Given the description of an element on the screen output the (x, y) to click on. 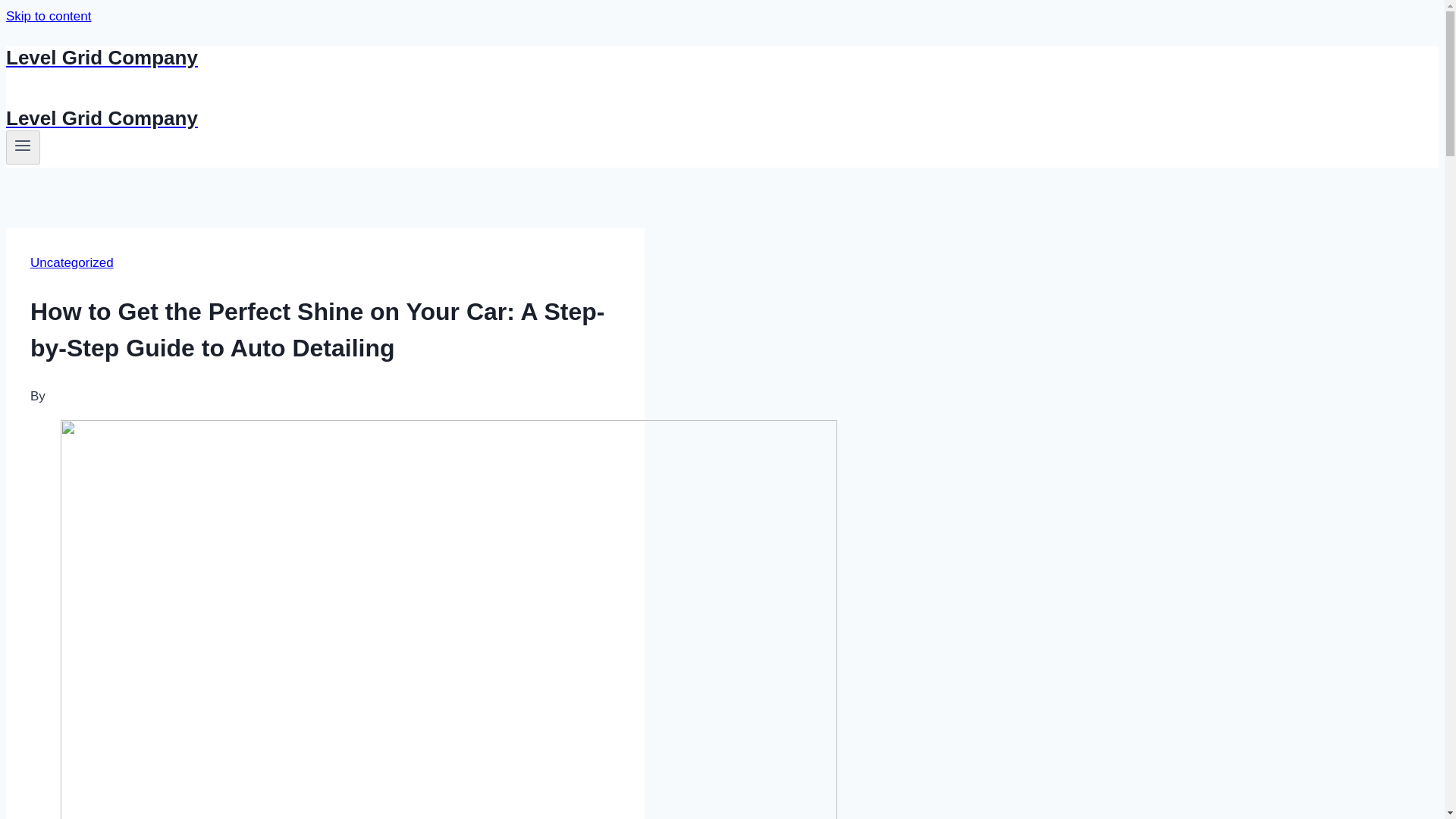
Toggle Menu (22, 146)
Skip to content (47, 16)
Uncategorized (71, 262)
Level Grid Company (494, 118)
Skip to content (47, 16)
Level Grid Company (494, 57)
Toggle Menu (22, 145)
